Given the description of an element on the screen output the (x, y) to click on. 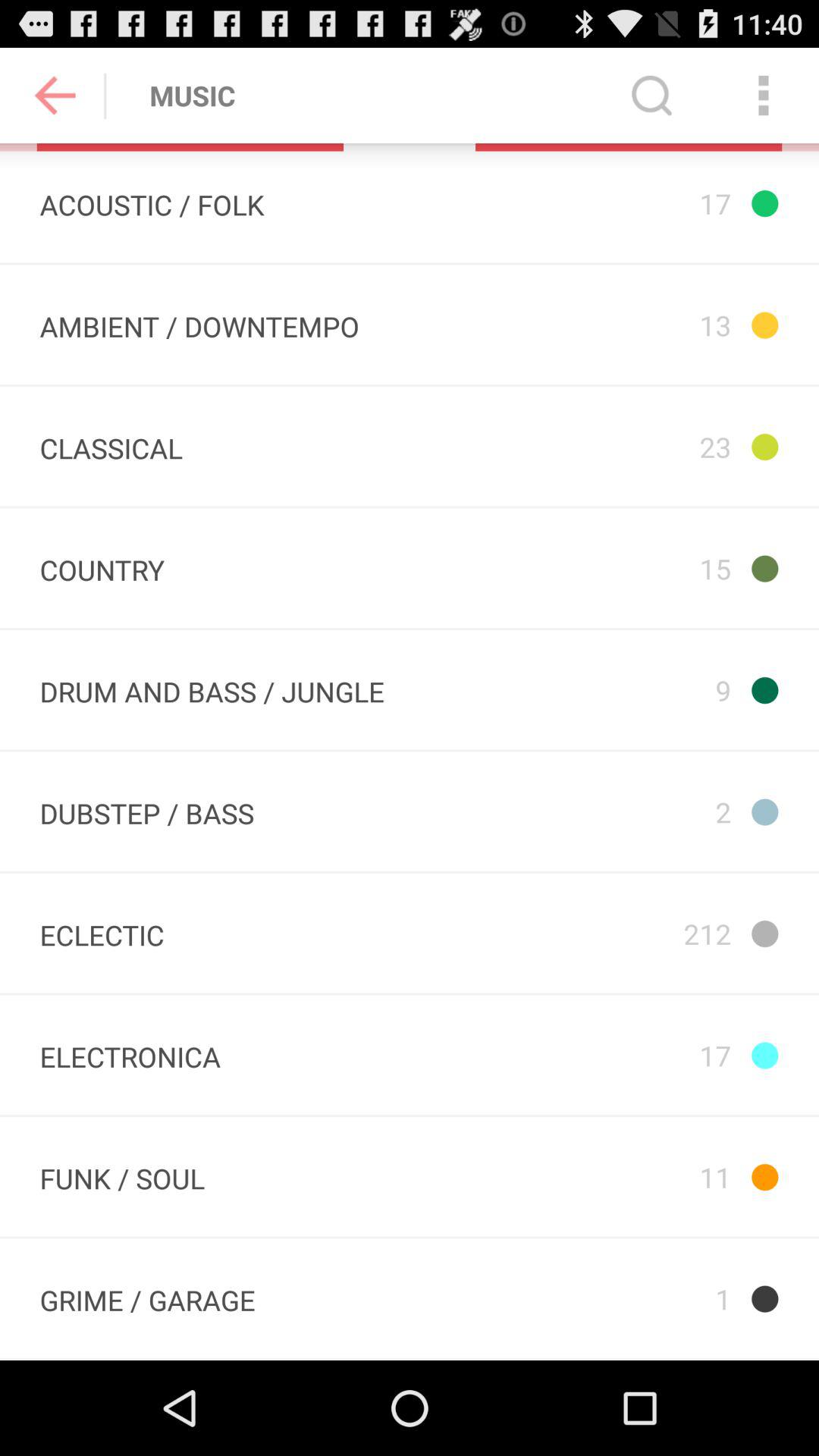
press item below 11 icon (627, 1298)
